Given the description of an element on the screen output the (x, y) to click on. 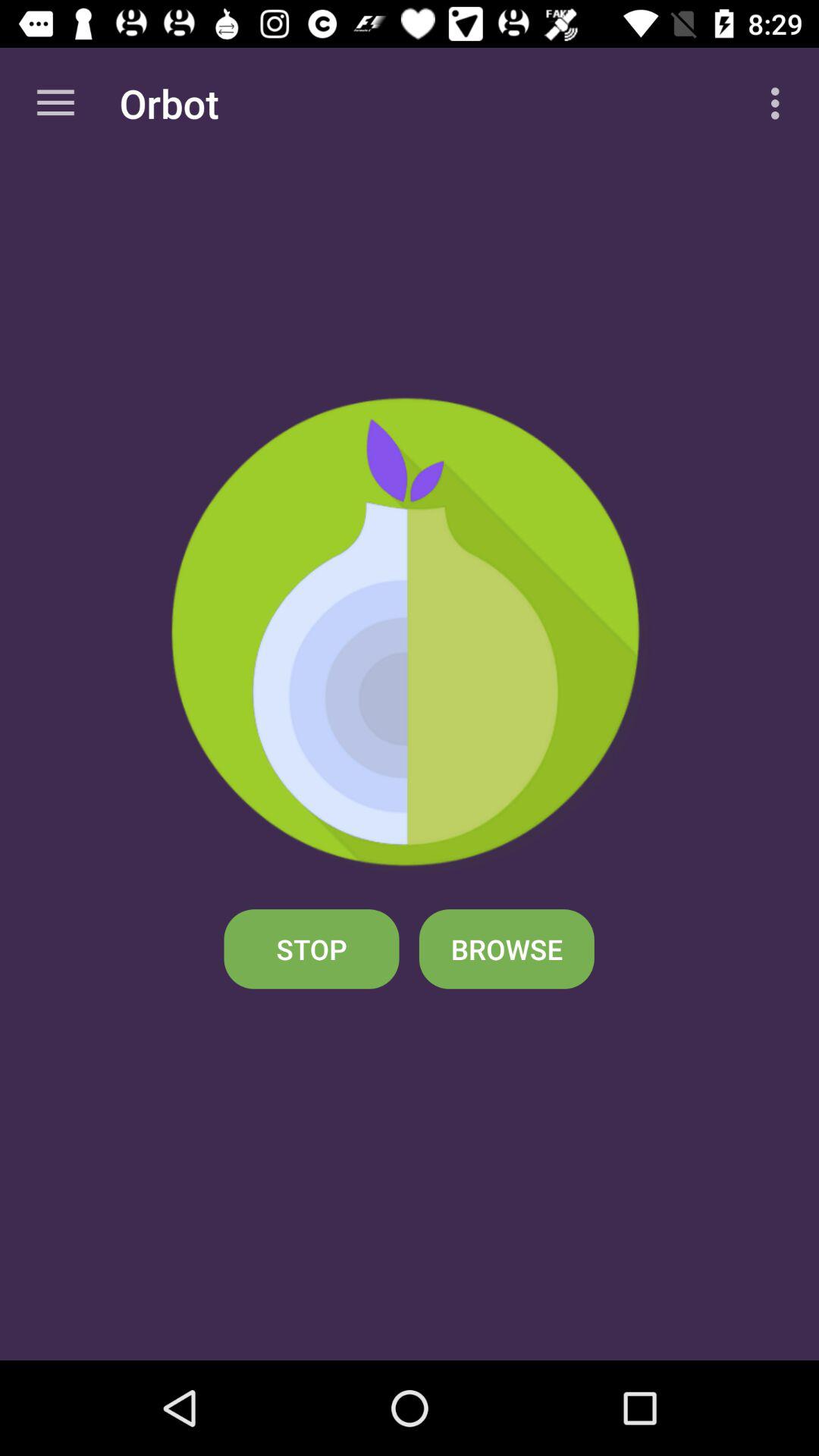
open the browse (506, 949)
